Given the description of an element on the screen output the (x, y) to click on. 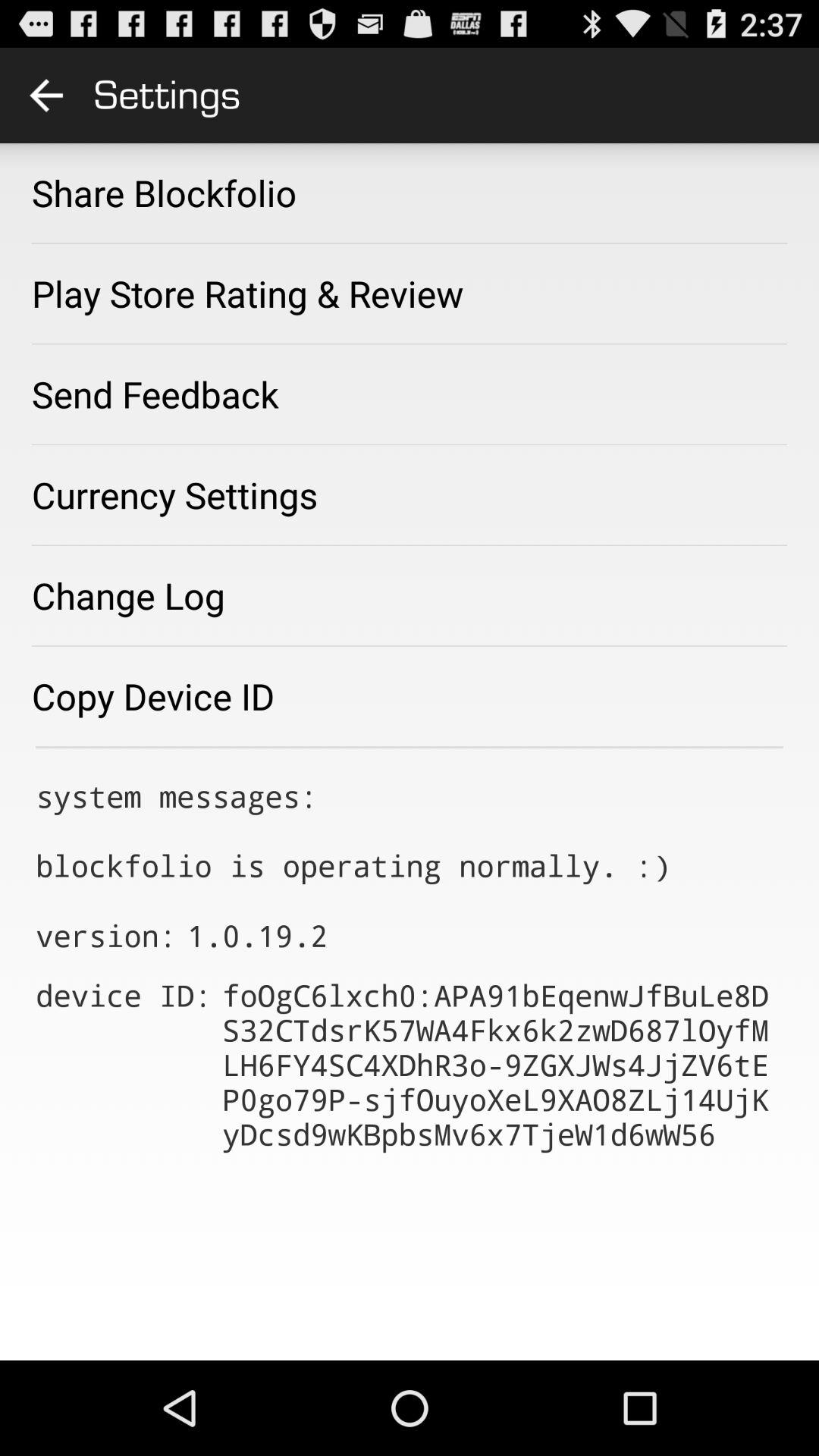
choose the app at the bottom (502, 1064)
